Given the description of an element on the screen output the (x, y) to click on. 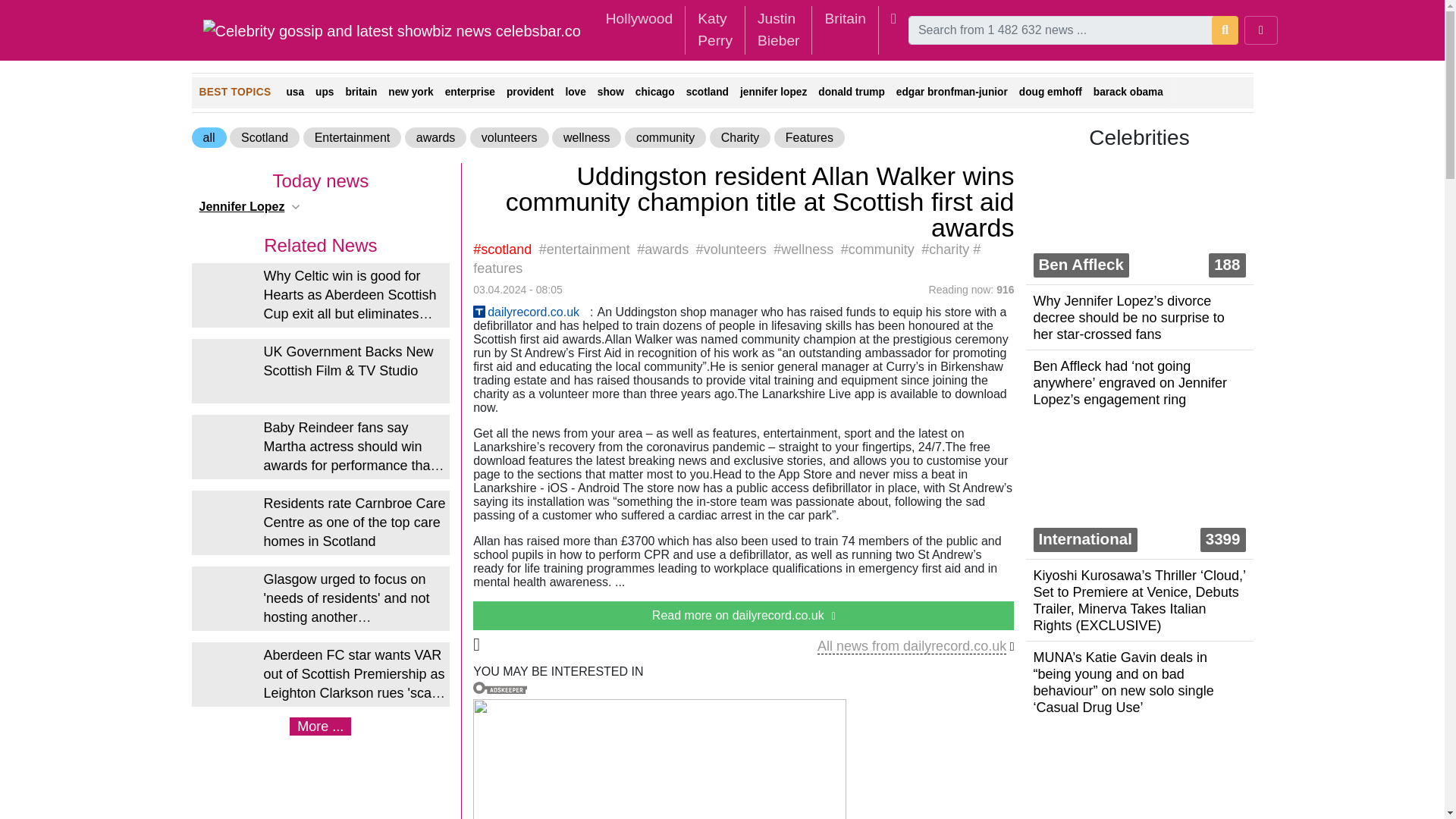
Hollywood (639, 18)
Britain (844, 18)
Katy Perry (714, 29)
Justin Bieber (777, 29)
Hollywood (639, 18)
Britain (844, 18)
Katy Perry (714, 29)
Justin Bieber (777, 29)
